Given the description of an element on the screen output the (x, y) to click on. 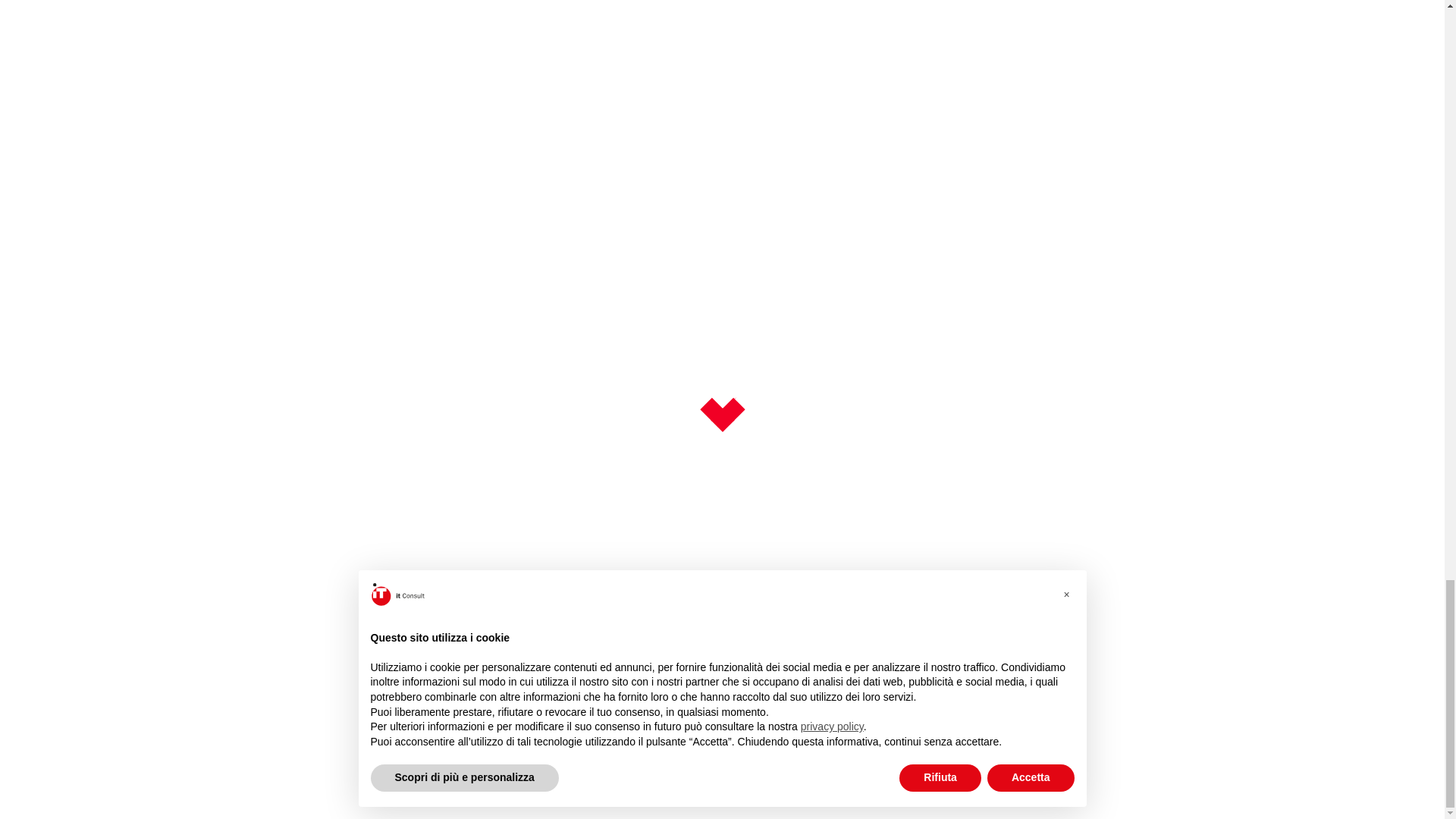
Banca Ubae (770, 3)
webagency (304, 776)
it Consult (332, 297)
Musei Vaticani (371, 3)
